Given the description of an element on the screen output the (x, y) to click on. 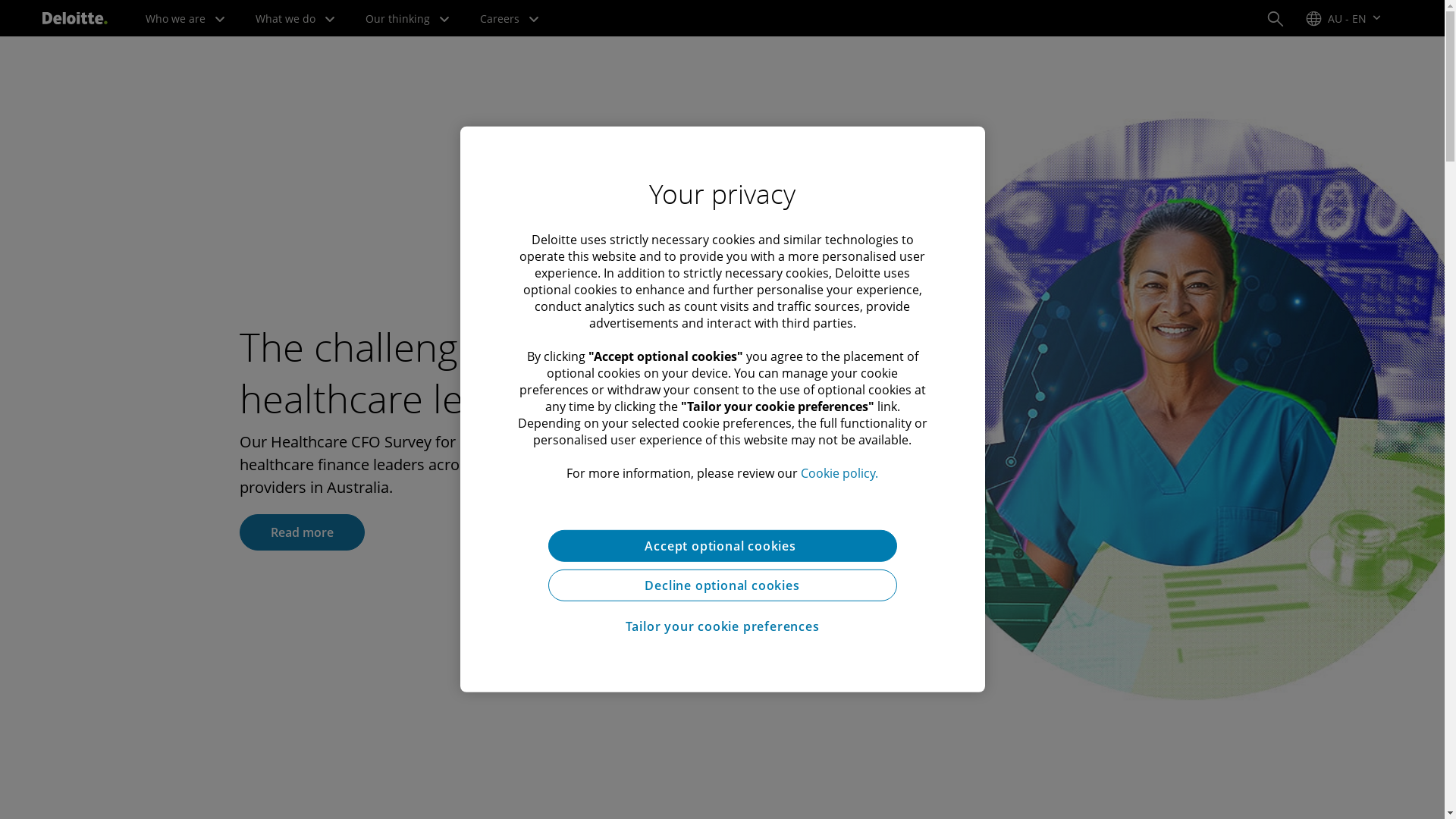
What we do Element type: text (295, 18)
Deloitte Element type: hover (74, 18)
Who we are Element type: text (185, 18)
Read more Element type: text (302, 531)
Careers Element type: text (509, 18)
Our thinking Element type: text (407, 18)
AU - EN Element type: text (1342, 18)
